Given the description of an element on the screen output the (x, y) to click on. 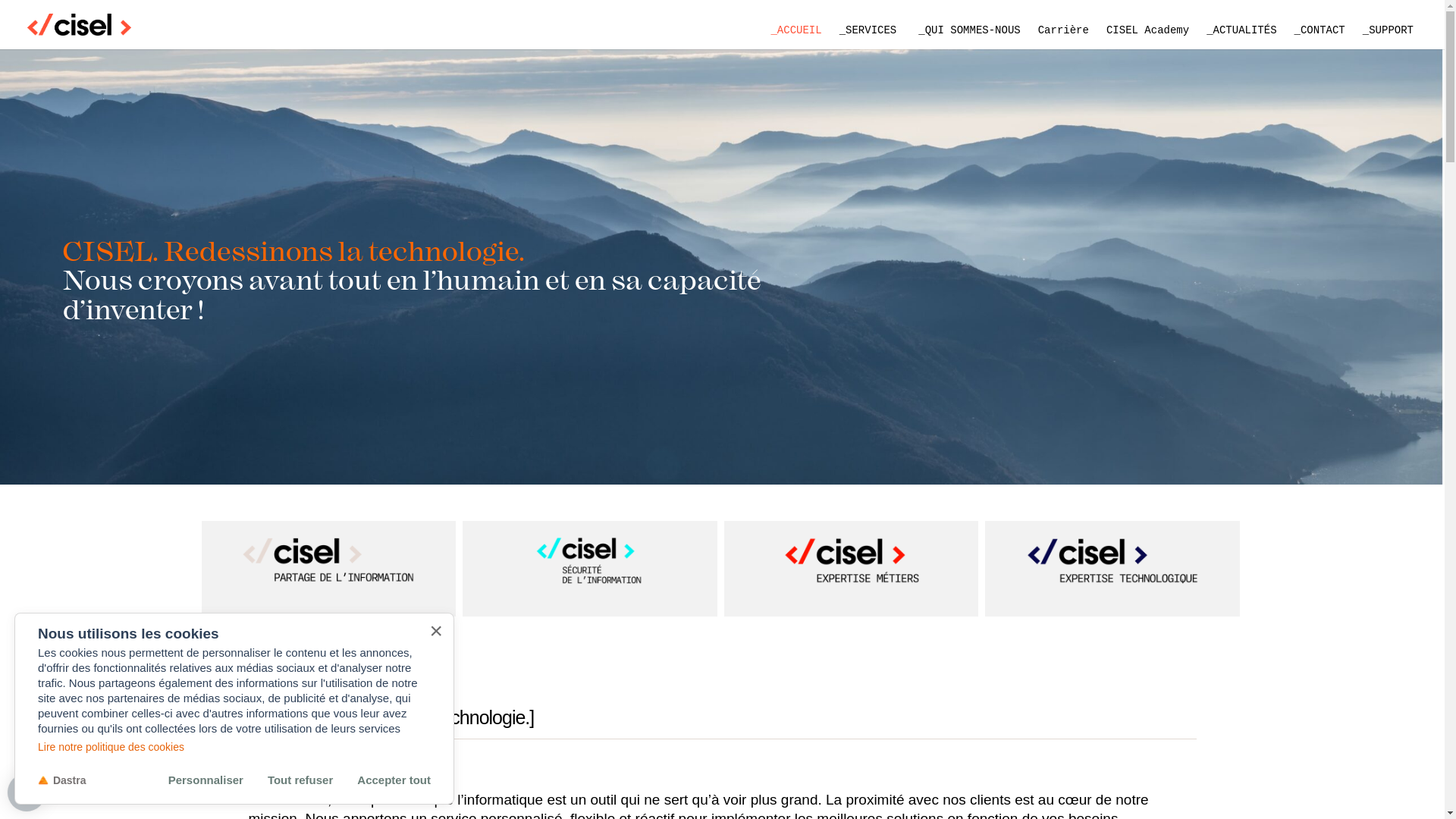
_QUI SOMMES-NOUS Element type: text (969, 30)
Je m' inscris Element type: text (37, 16)
Tout refuser Element type: text (300, 778)
0 Element type: text (26, 792)
_SUPPORT Element type: text (1387, 30)
CISEL Academy Element type: text (1147, 30)
Accepter tout Element type: text (393, 778)
Dastra Element type: text (61, 778)
_ACCUEIL Element type: text (795, 30)
Personnaliser Element type: text (205, 778)
_CONTACT Element type: text (1319, 30)
_SERVICES Element type: text (870, 30)
Lire notre politique des cookies Element type: text (233, 746)
